Given the description of an element on the screen output the (x, y) to click on. 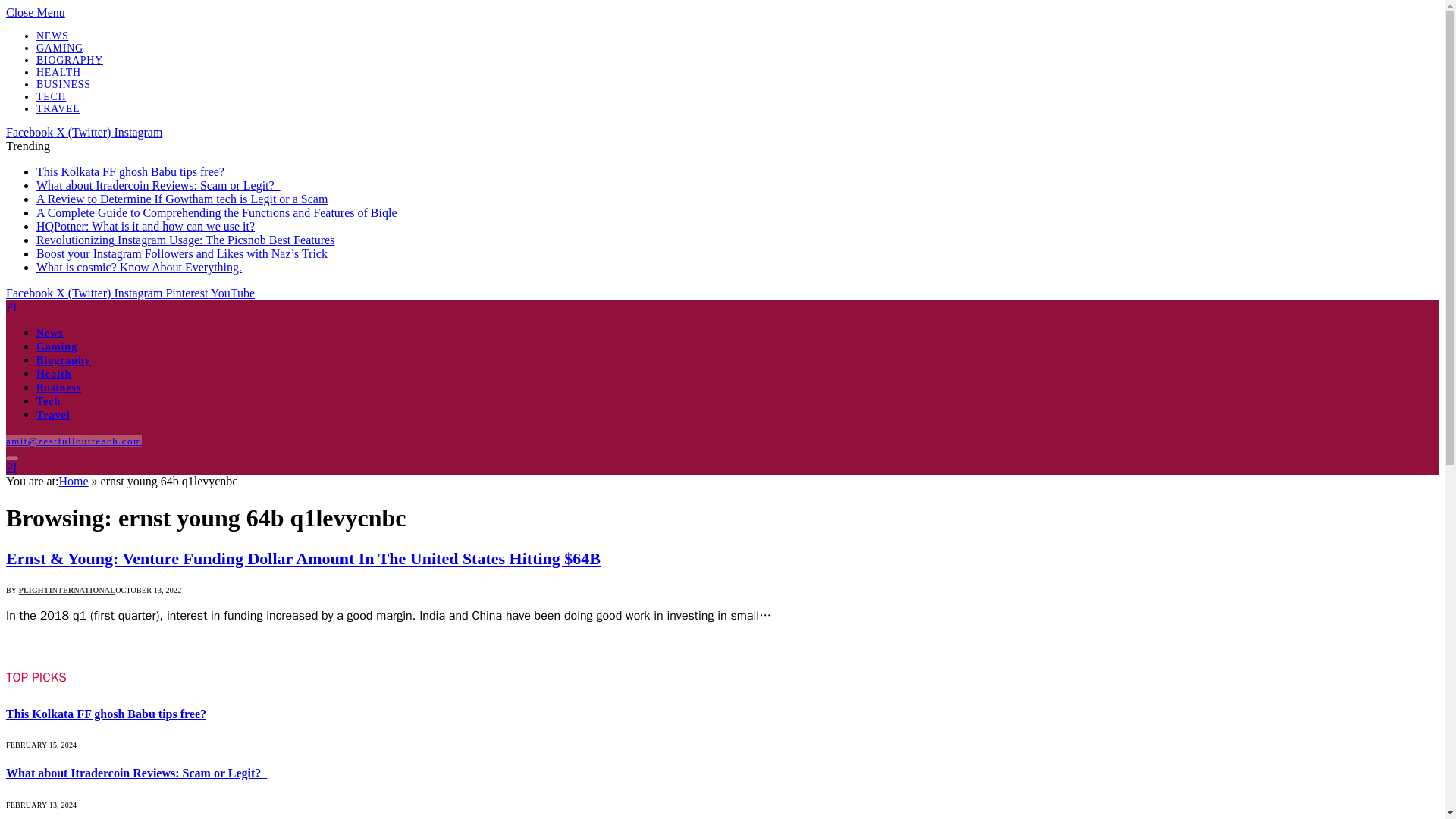
Instagram (137, 132)
Facebook (30, 292)
PI (10, 306)
What about Itradercoin Reviews: Scam or Legit?   (158, 185)
Business (58, 387)
TRAVEL (58, 108)
What is cosmic? Know About Everything. (138, 267)
Health (53, 374)
Facebook (30, 132)
Biography (63, 360)
A Review to Determine If Gowtham tech is Legit or a Scam (181, 198)
plightinternational (10, 467)
Revolutionizing Instagram Usage: The Picsnob Best Features (185, 239)
Pinterest (187, 292)
PI (10, 467)
